Given the description of an element on the screen output the (x, y) to click on. 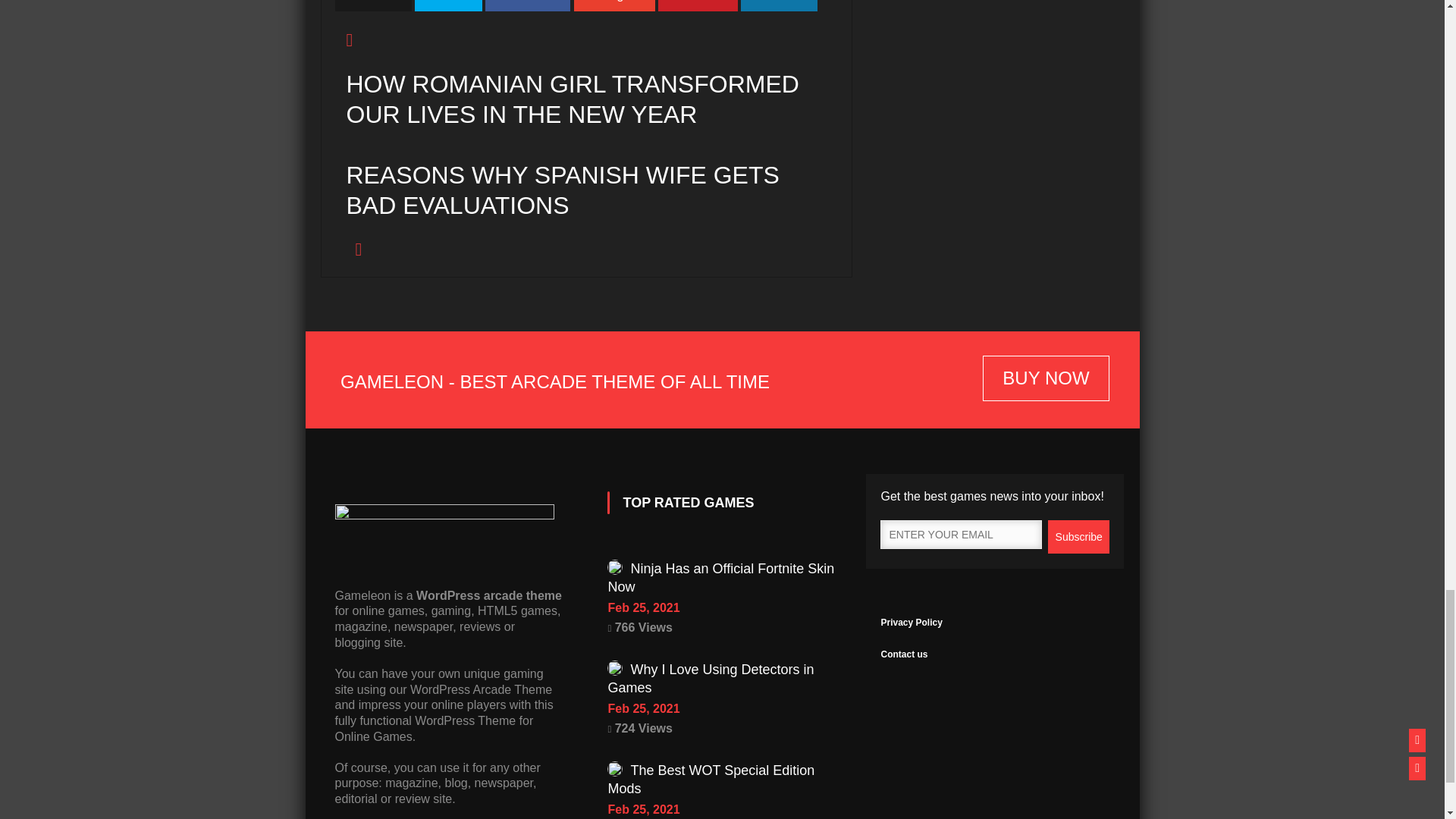
Feb 25, 2021 (721, 608)
Facebook (527, 5)
Feb 25, 2021 (721, 709)
Share it! (373, 5)
Pinterest (698, 5)
REASONS WHY SPANISH WIFE GETS BAD EVALUATIONS (586, 208)
Twitter (447, 5)
Linkedin (778, 5)
HOW ROMANIAN GIRL TRANSFORMED OUR LIVES IN THE NEW YEAR (592, 118)
Subscribe (1078, 537)
Feb 25, 2021 (721, 810)
